Given the description of an element on the screen output the (x, y) to click on. 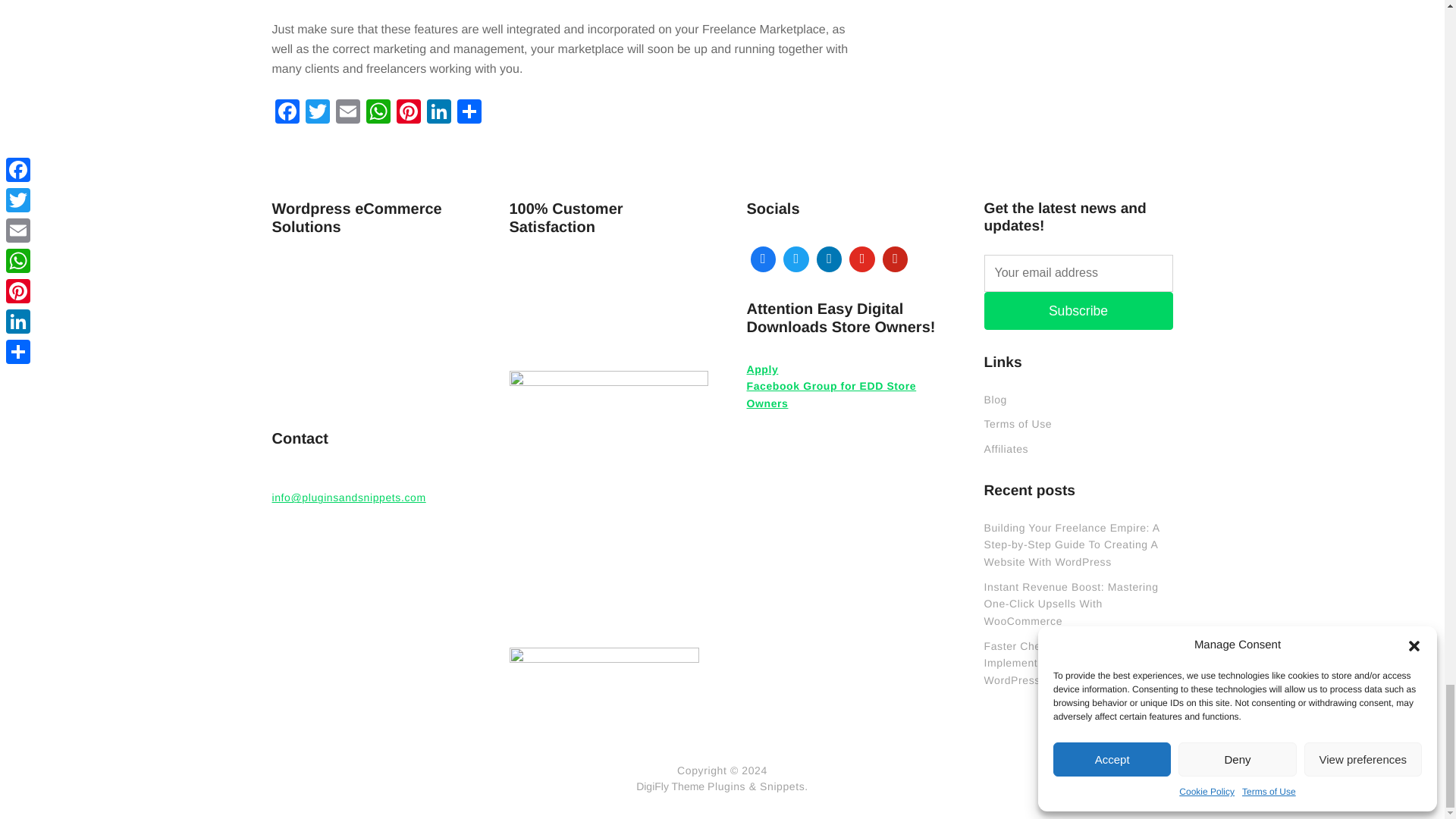
Facebook (285, 113)
Email (346, 113)
Facebook (761, 259)
LinkedIn (437, 113)
Subscribe (1078, 310)
Twitter (795, 259)
WhatsApp (377, 113)
Linkedin (828, 259)
Twitter (316, 113)
Pinterest (408, 113)
